Given the description of an element on the screen output the (x, y) to click on. 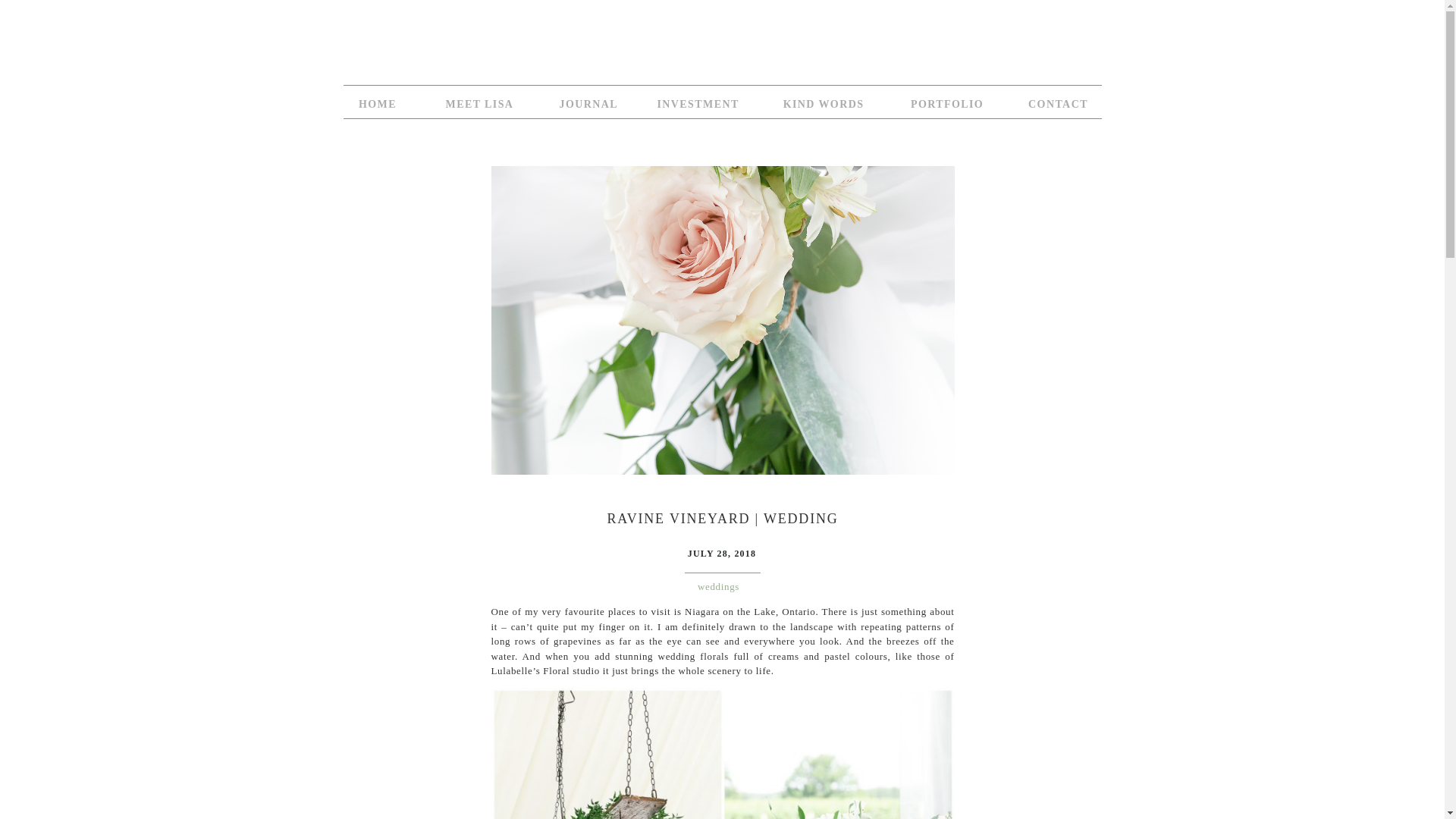
JOURNAL (585, 103)
PORTFOLIO (947, 103)
CONTACT (1058, 103)
KIND WORDS (822, 103)
MEET LISA (479, 103)
HOME (377, 103)
weddings (718, 586)
INVESTMENT (696, 103)
